Given the description of an element on the screen output the (x, y) to click on. 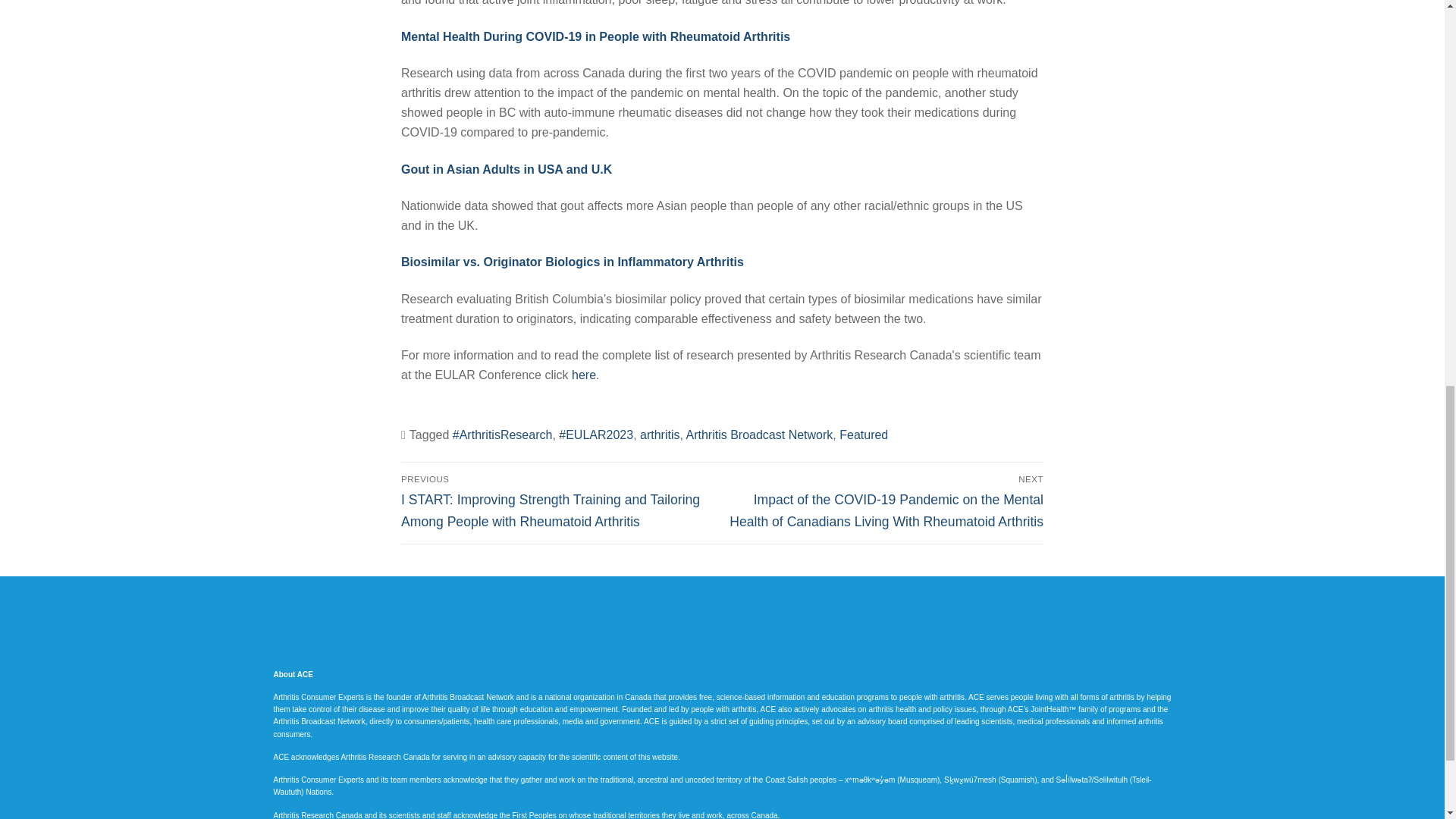
arthritis (659, 434)
here (583, 374)
Gout in Asian Adults in USA and U.K (506, 169)
Arthritis Broadcast Network (758, 434)
Featured (864, 434)
